Given the description of an element on the screen output the (x, y) to click on. 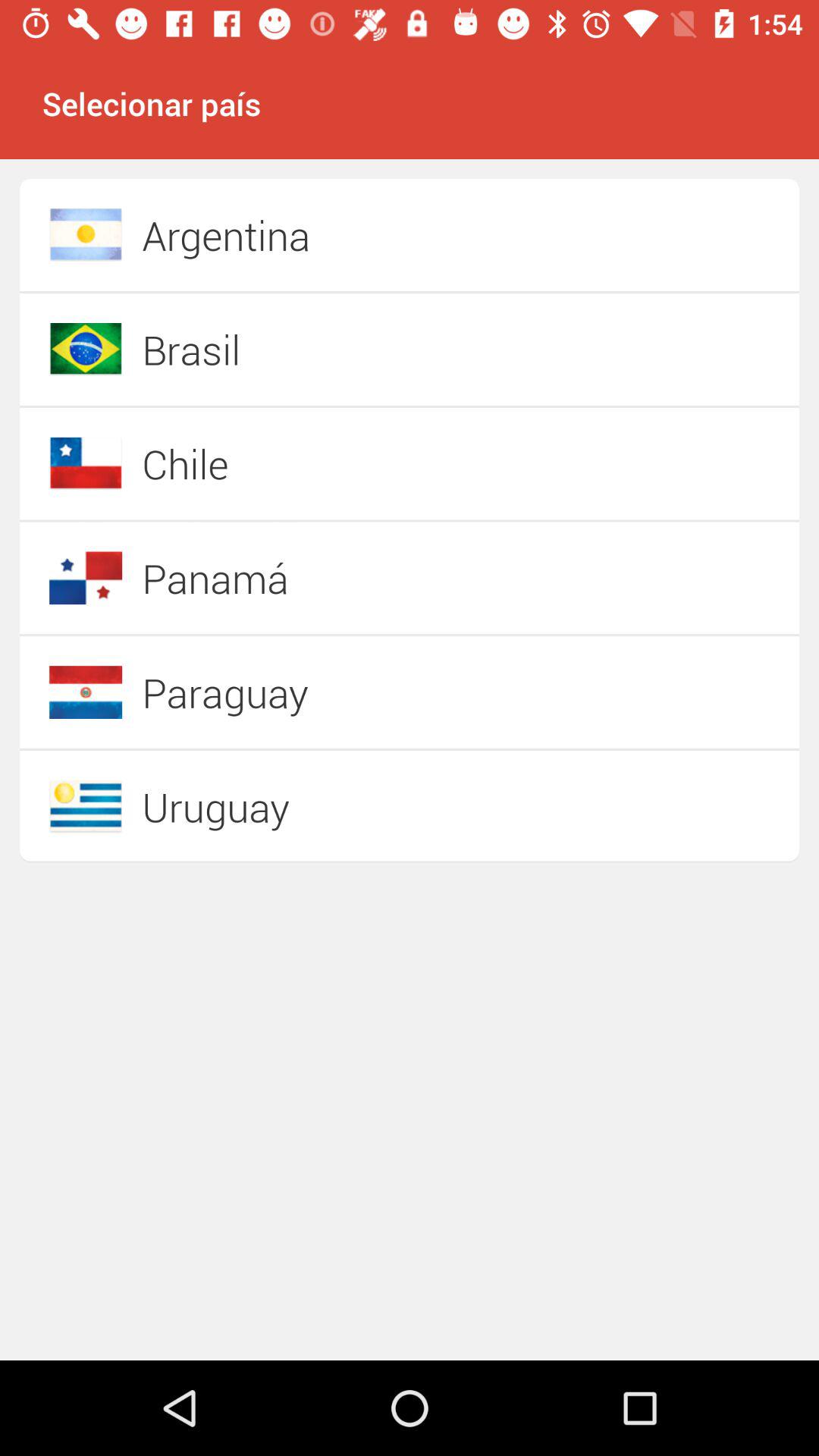
open the chile item (356, 463)
